Given the description of an element on the screen output the (x, y) to click on. 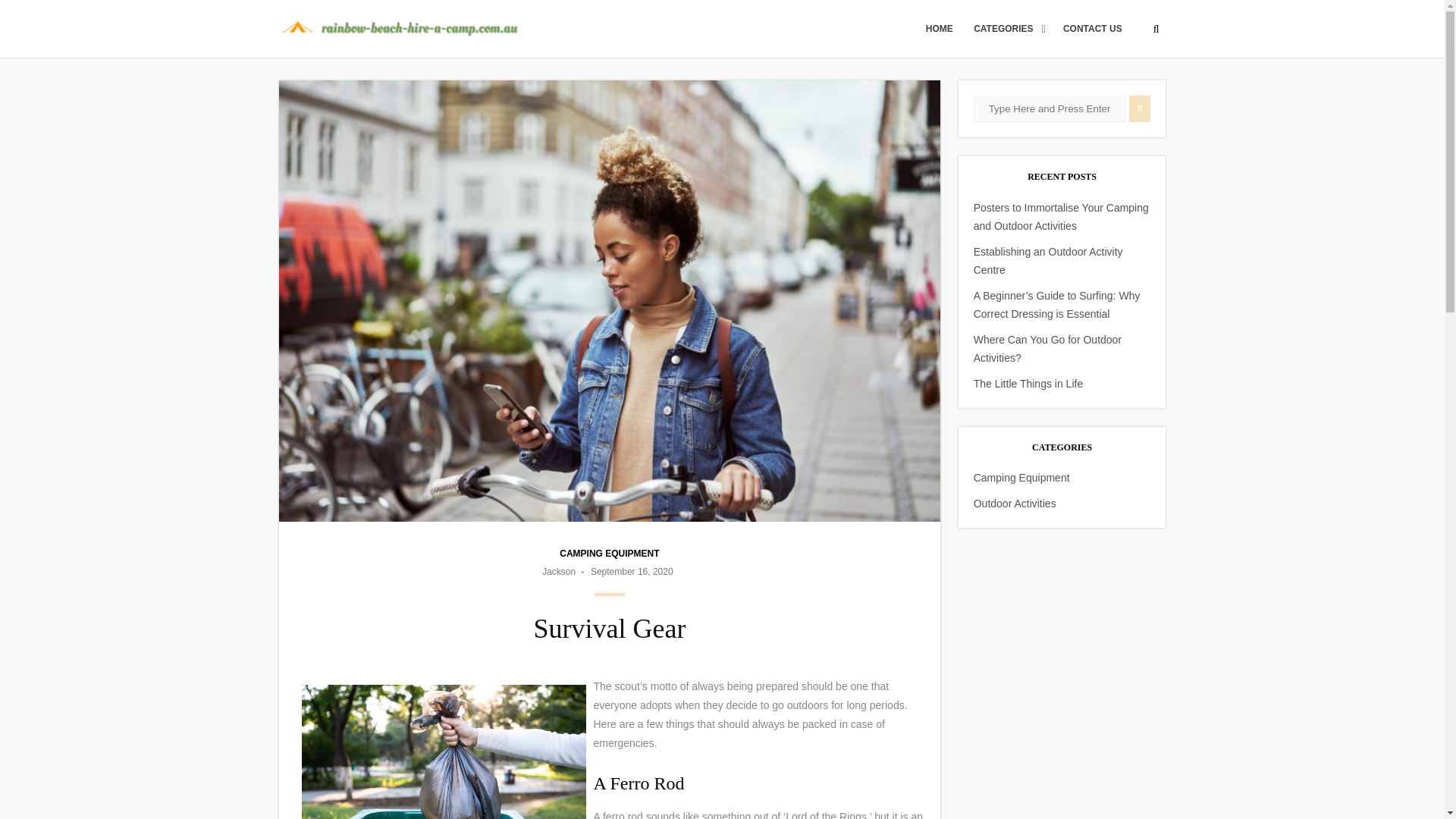
CONTACT US (1092, 28)
Where Can You Go for Outdoor Activities? (1047, 348)
Jackson (558, 571)
Posts by jackson (558, 571)
Camping Equipment (1022, 477)
The Little Things in Life (1028, 383)
CAMPING EQUIPMENT (609, 552)
16th September 2020 (631, 571)
Outdoor Activities (1015, 503)
Posters to Immortalise Your Camping and Outdoor Activities (1061, 216)
